Given the description of an element on the screen output the (x, y) to click on. 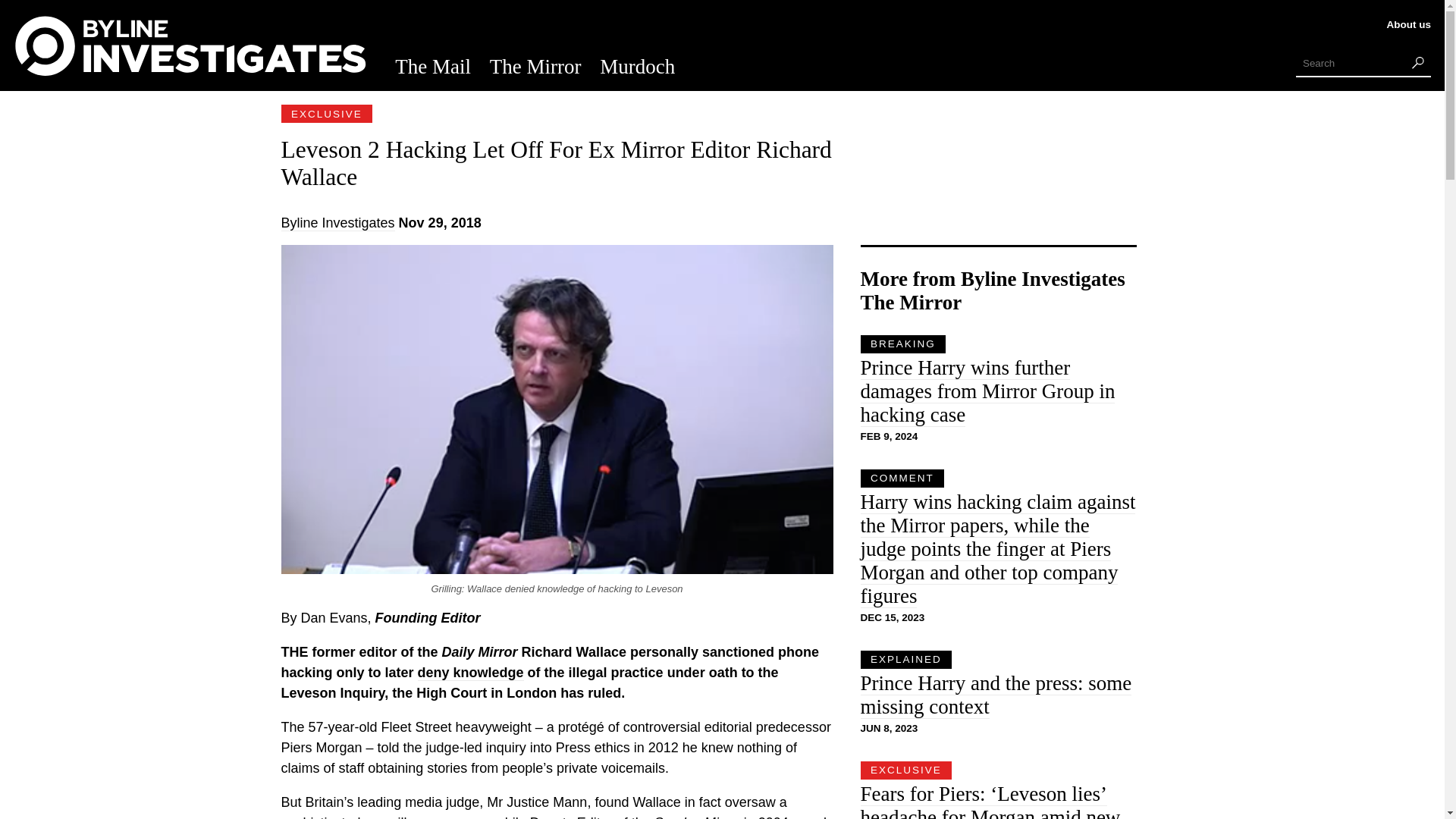
About us (1408, 24)
The Mail (432, 66)
Prince Harry and the press: some missing context (995, 695)
Murdoch (637, 66)
The Mirror (534, 66)
Byline Investigates (337, 222)
deny knowledge (470, 672)
